Given the description of an element on the screen output the (x, y) to click on. 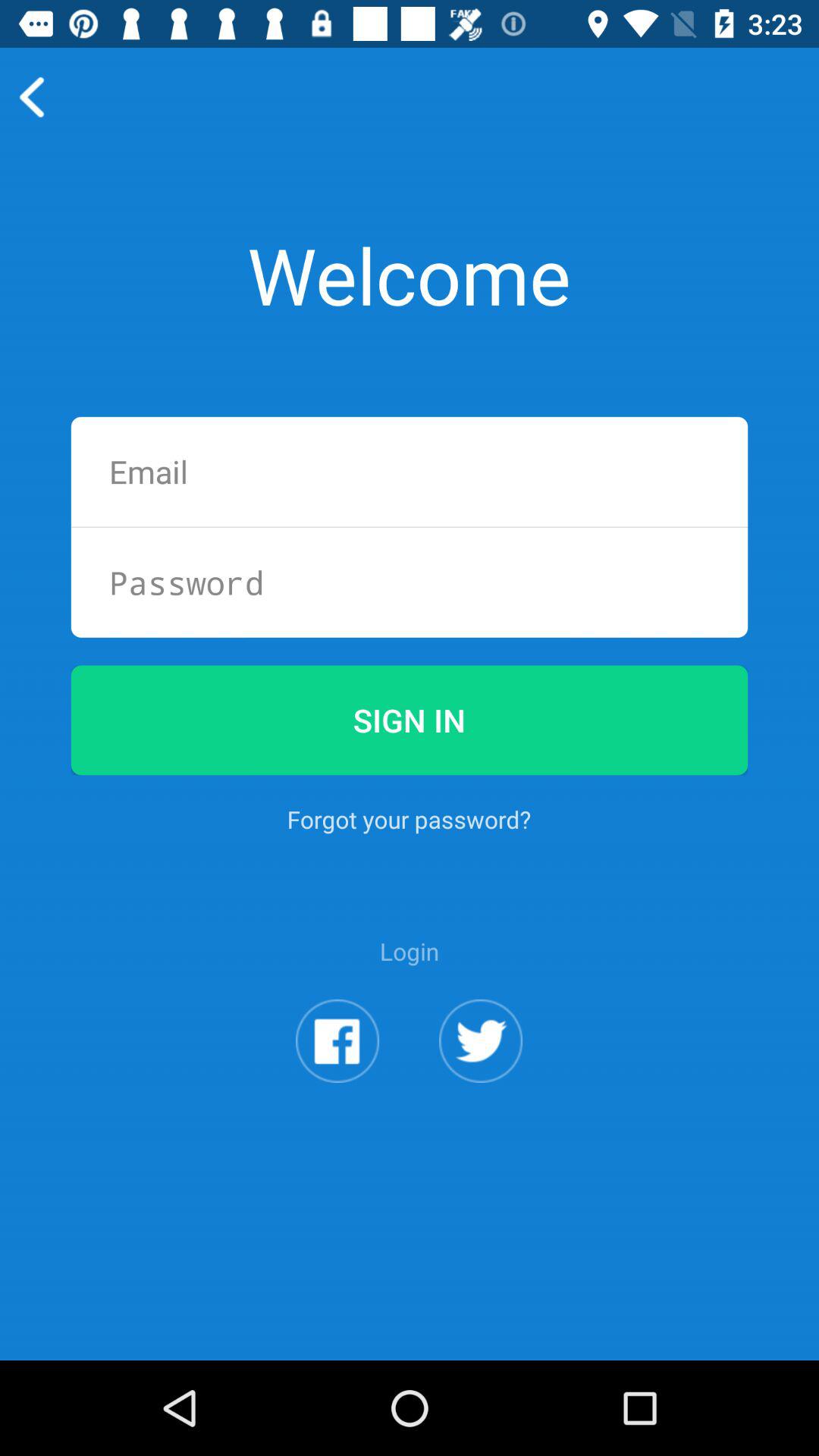
enter text (409, 471)
